Given the description of an element on the screen output the (x, y) to click on. 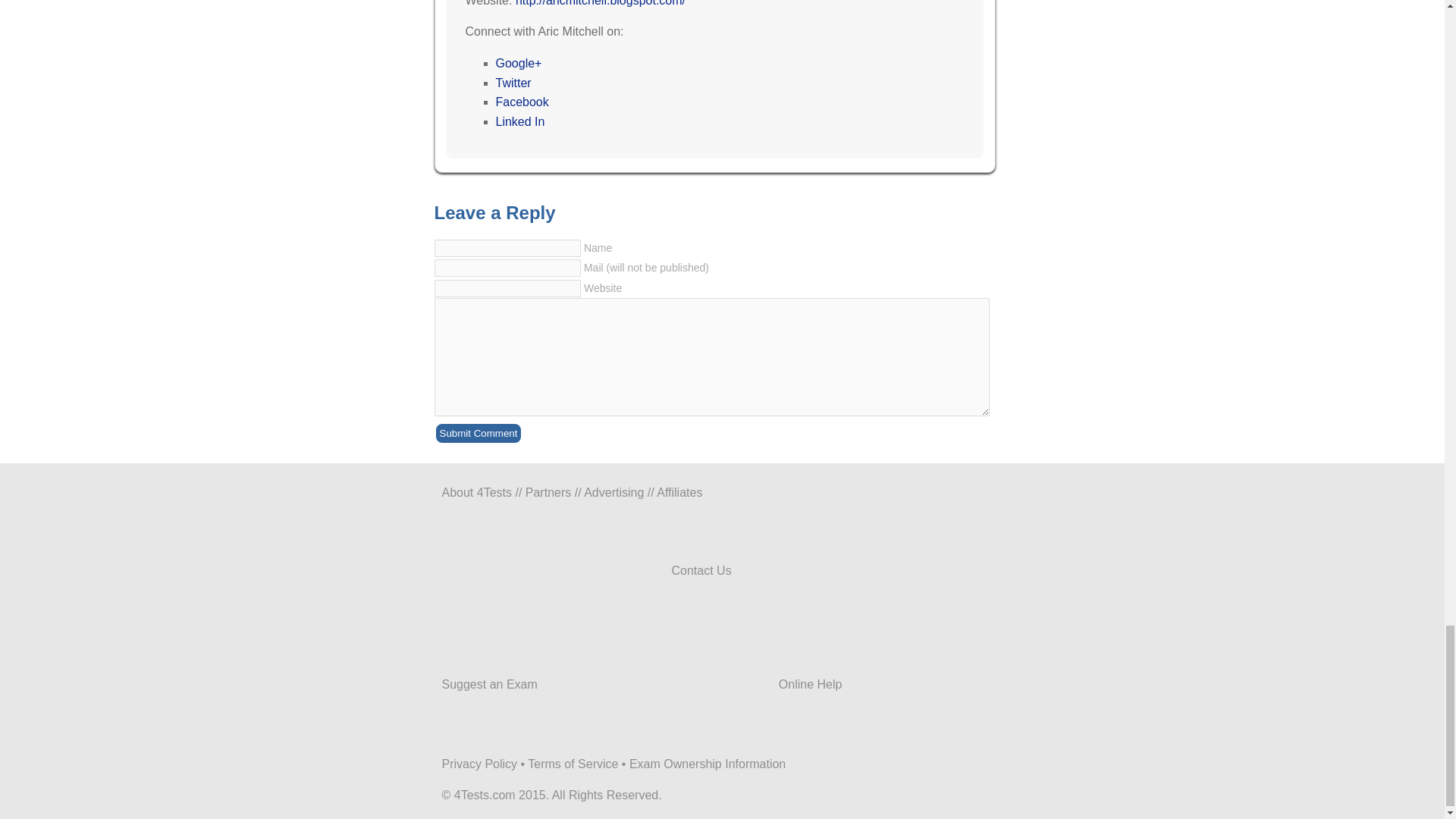
Submit Comment (477, 433)
